Given the description of an element on the screen output the (x, y) to click on. 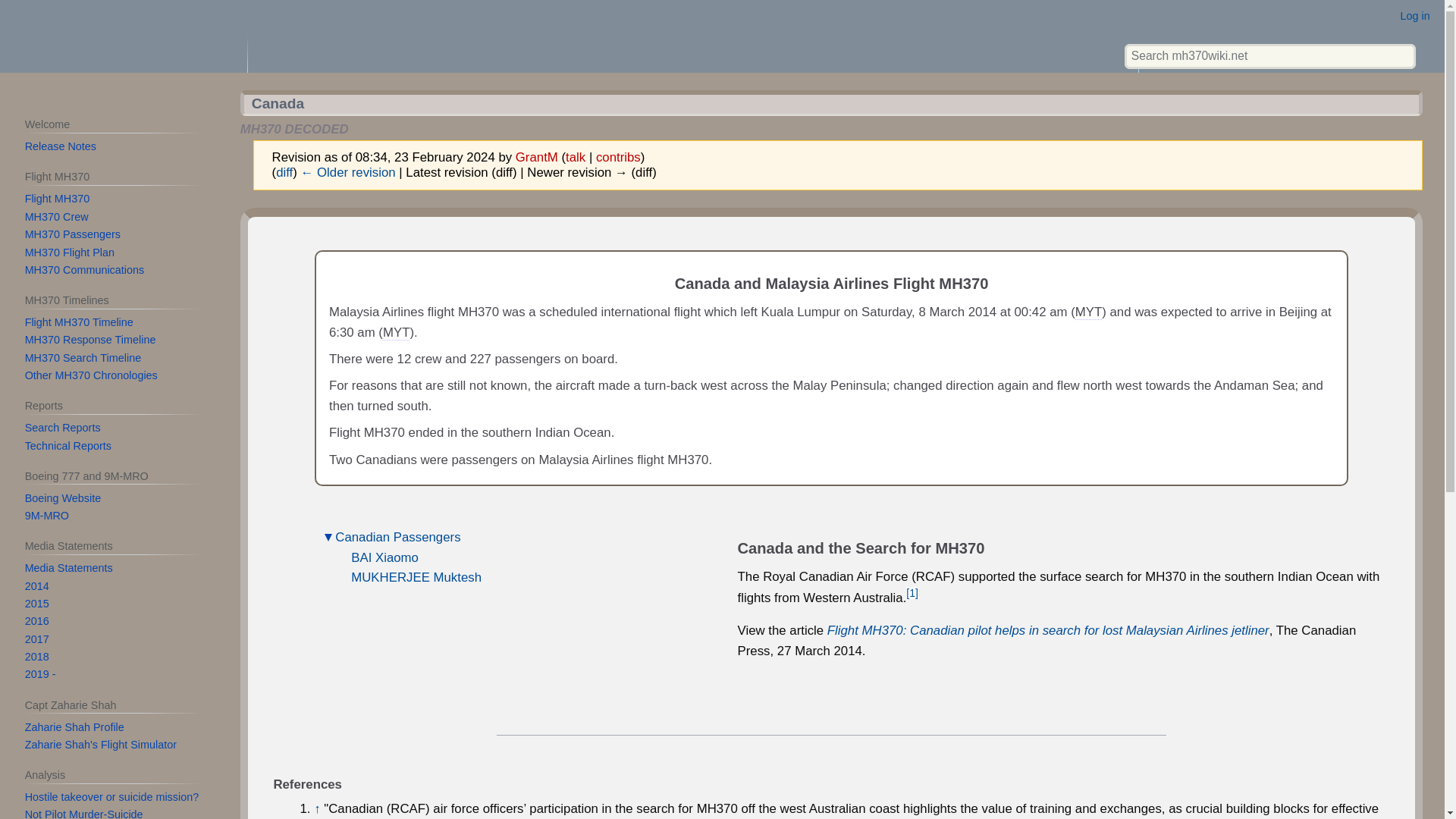
Other MH370 Chronologies (90, 375)
diff (284, 172)
MH370 Communications (84, 269)
Log in (1414, 15)
BAI Xiaomo (384, 557)
GrantM (536, 156)
Release Notes (60, 146)
Search the pages for this text (1402, 56)
MH370 Crew (56, 216)
Search Reports (62, 427)
Go (1402, 56)
contribs (617, 156)
Category:Canadian Passengers (397, 536)
Search (1402, 56)
